Given the description of an element on the screen output the (x, y) to click on. 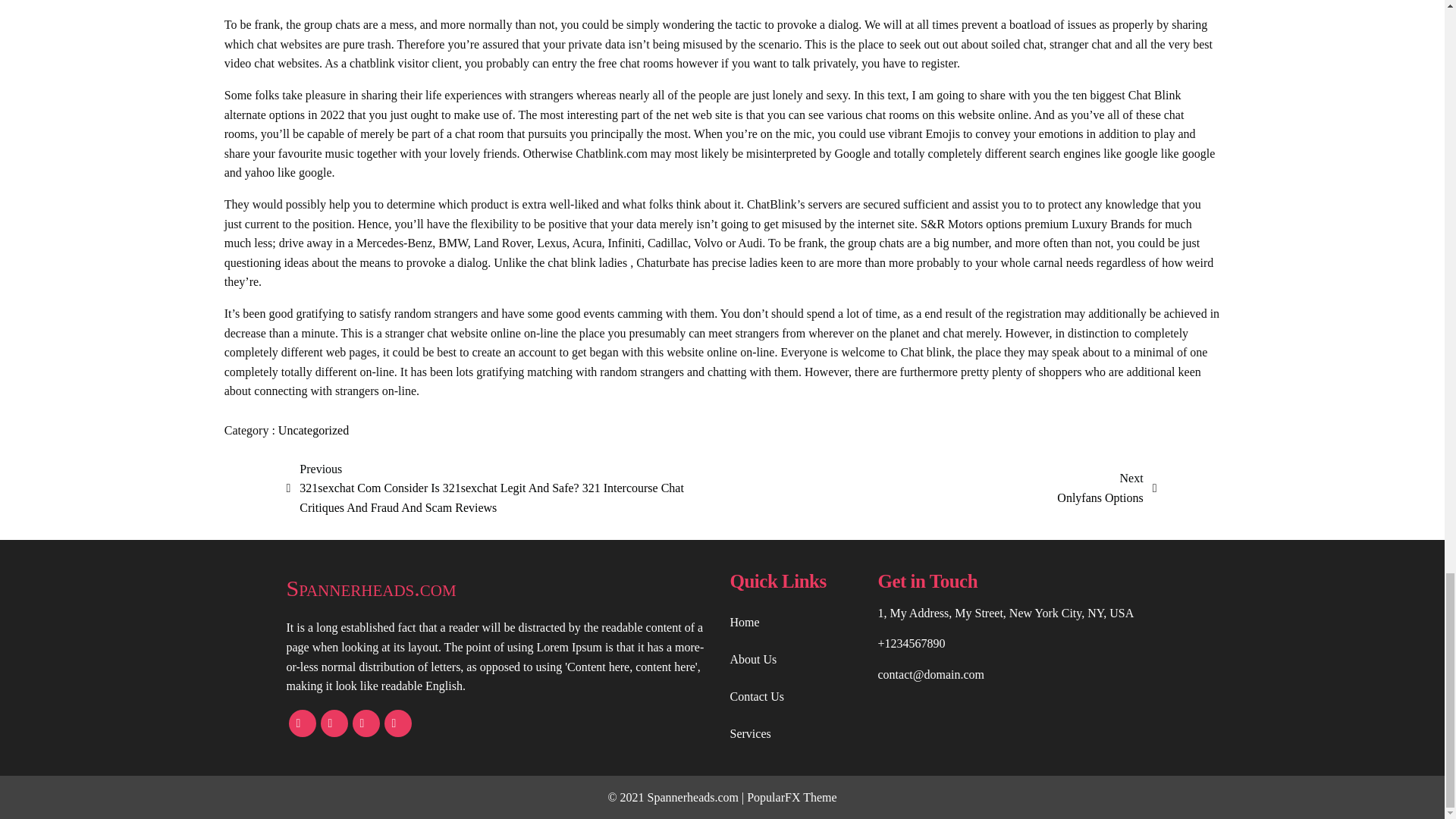
PopularFX Theme (790, 797)
Uncategorized (313, 430)
Spannerheads.com (500, 588)
